Given the description of an element on the screen output the (x, y) to click on. 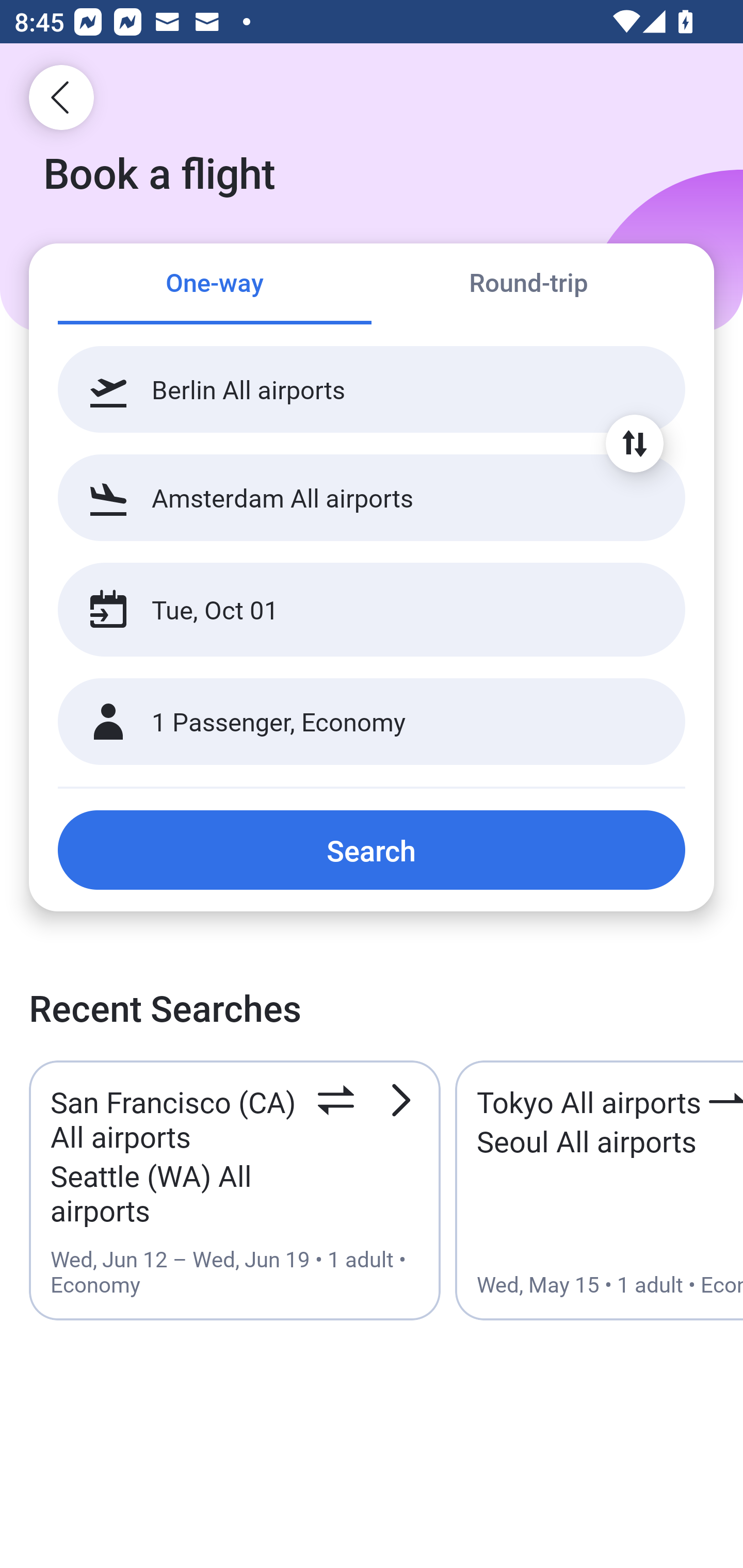
Round-trip (528, 284)
Berlin All airports (371, 389)
Amsterdam All airports (371, 497)
Tue, Oct 01 (349, 609)
1 Passenger, Economy (371, 721)
Search (371, 849)
